Given the description of an element on the screen output the (x, y) to click on. 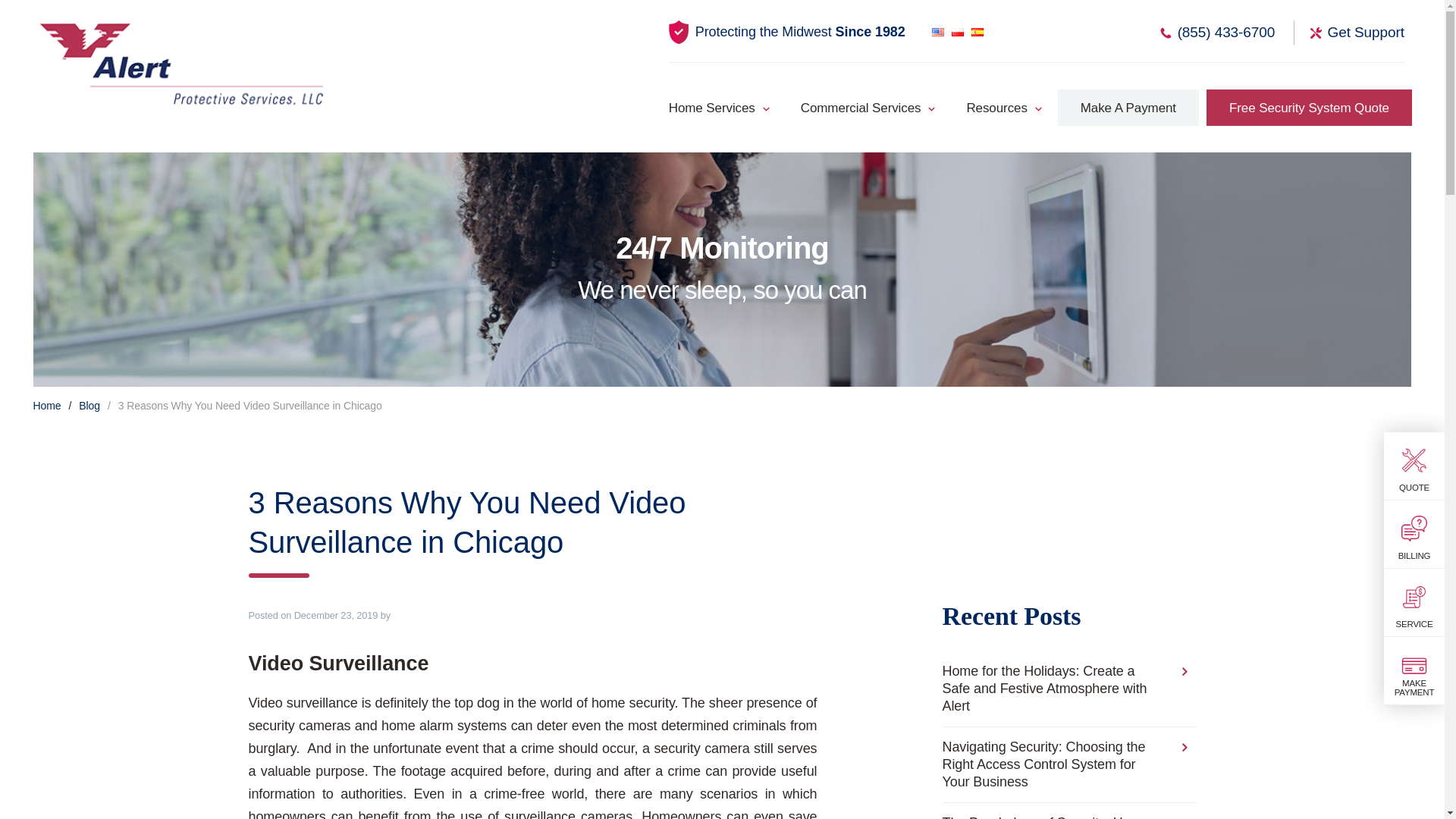
Alert Protective (182, 63)
Home Services (722, 111)
Get Support (1349, 32)
Free Security System Quote (1309, 107)
Commercial Security Systems (860, 111)
Resources (996, 111)
Blog (89, 406)
Make A Payment (1128, 107)
December 23, 2019 (336, 614)
Resources (996, 111)
Home (47, 406)
Commercial Services (860, 111)
Home Security Systems (722, 111)
Alert Protective (182, 63)
